Given the description of an element on the screen output the (x, y) to click on. 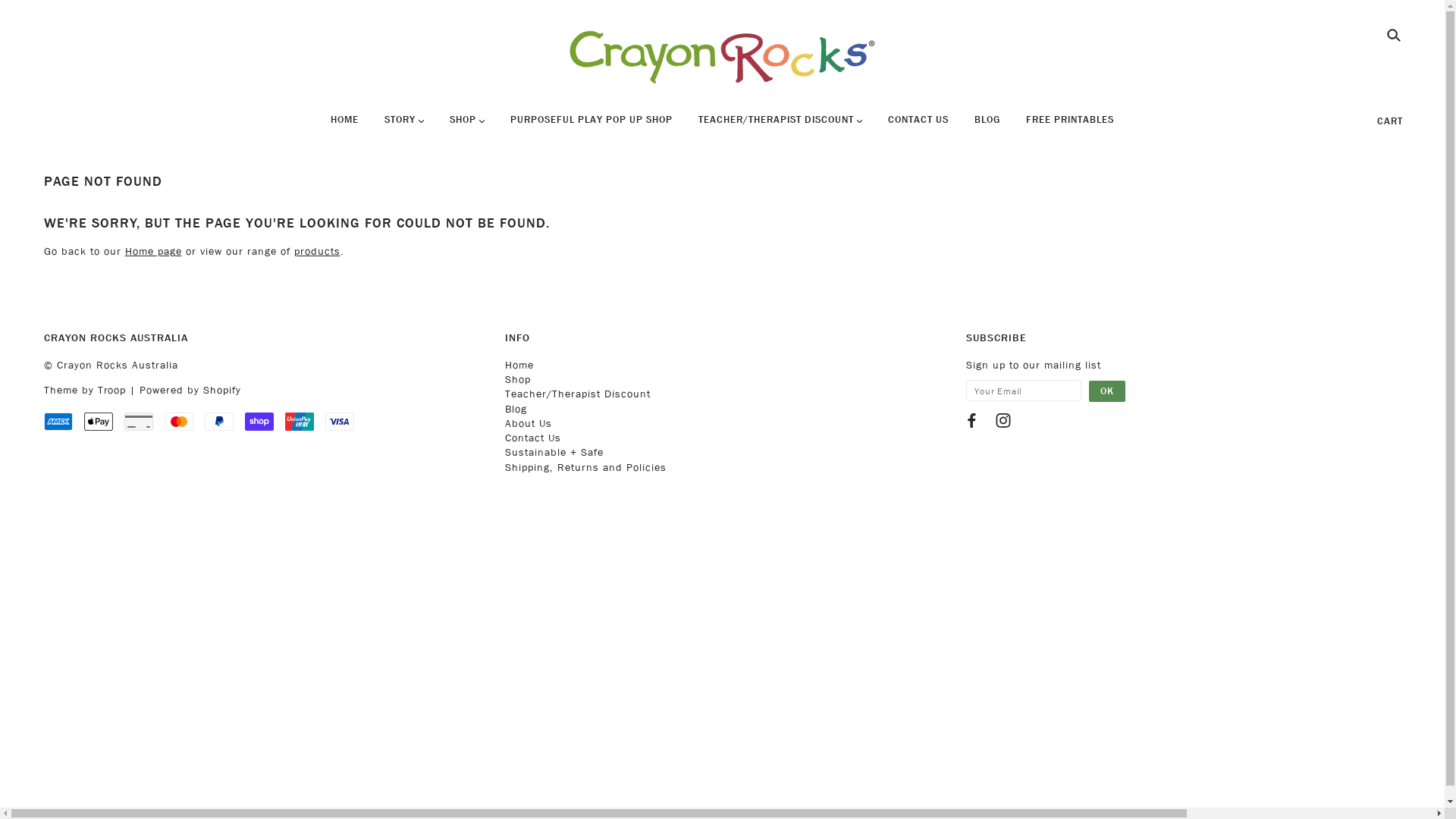
Home page Element type: text (152, 251)
TEACHER/THERAPIST DISCOUNT Element type: text (780, 126)
PURPOSEFUL PLAY POP UP SHOP Element type: text (591, 126)
About Us Element type: text (528, 423)
Home Element type: text (519, 364)
Contact Us Element type: text (533, 437)
Sustainable + Safe Element type: text (554, 452)
Crayon Rocks Australia Element type: hover (722, 54)
STORY Element type: text (404, 126)
CART Element type: text (1389, 121)
OK Element type: text (1106, 390)
HOME Element type: text (344, 126)
products Element type: text (317, 251)
Blog Element type: text (516, 408)
Powered by Shopify Element type: text (190, 389)
Theme by Troop Element type: text (84, 389)
Shipping, Returns and Policies Element type: text (585, 467)
SHOP Element type: text (466, 126)
CONTACT US Element type: text (918, 126)
Shop Element type: text (517, 379)
BLOG Element type: text (987, 126)
Teacher/Therapist Discount Element type: text (577, 393)
FREE PRINTABLES Element type: text (1069, 126)
